Given the description of an element on the screen output the (x, y) to click on. 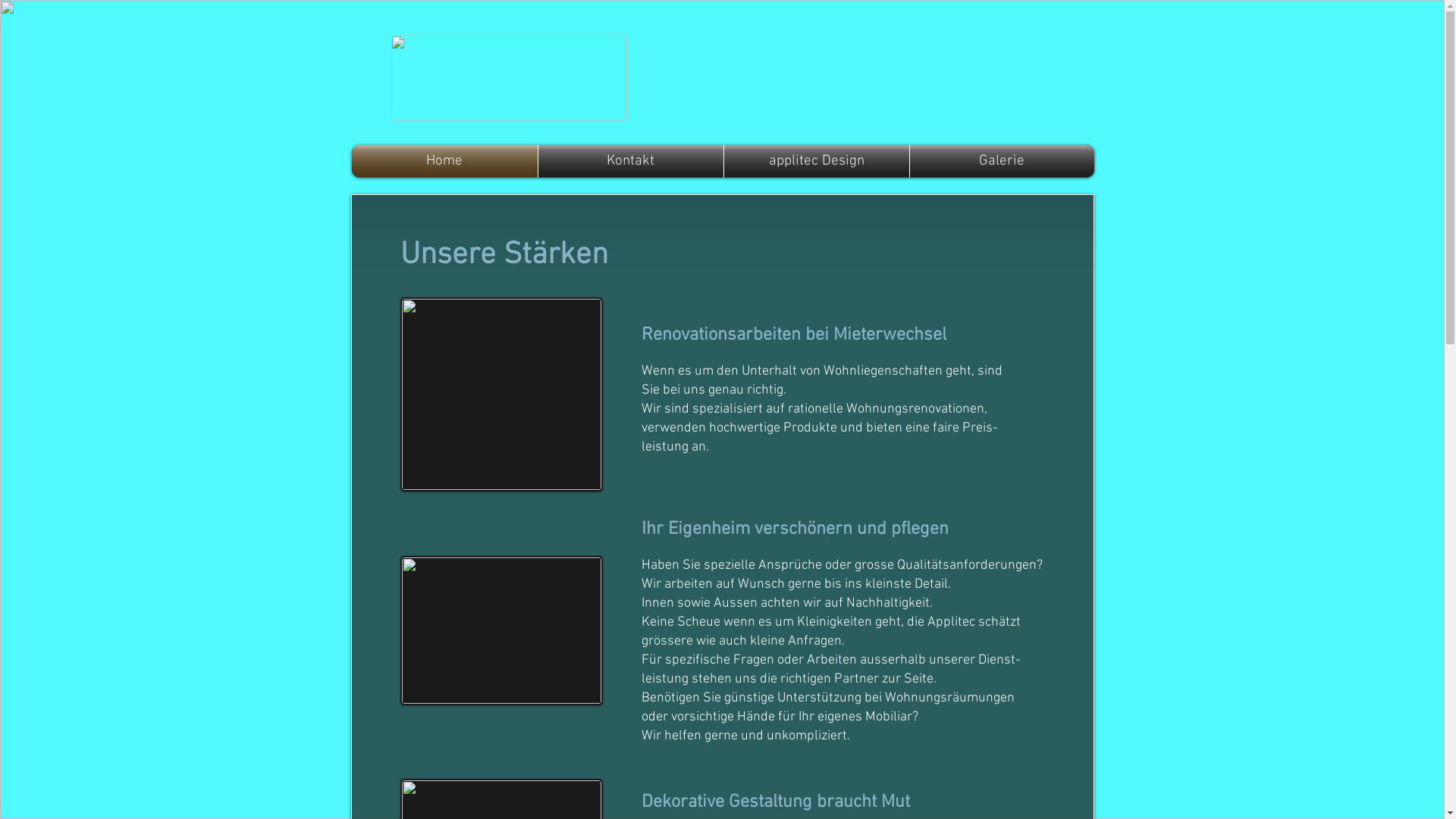
applitec Original ohne Hintergrund grau.png Element type: hover (507, 77)
Galerie Element type: text (1002, 160)
Grey House Element type: hover (501, 630)
applitec Design Element type: text (815, 160)
Home Element type: text (444, 160)
Modern Apartment Element type: hover (501, 394)
Kontakt Element type: text (630, 160)
